Given the description of an element on the screen output the (x, y) to click on. 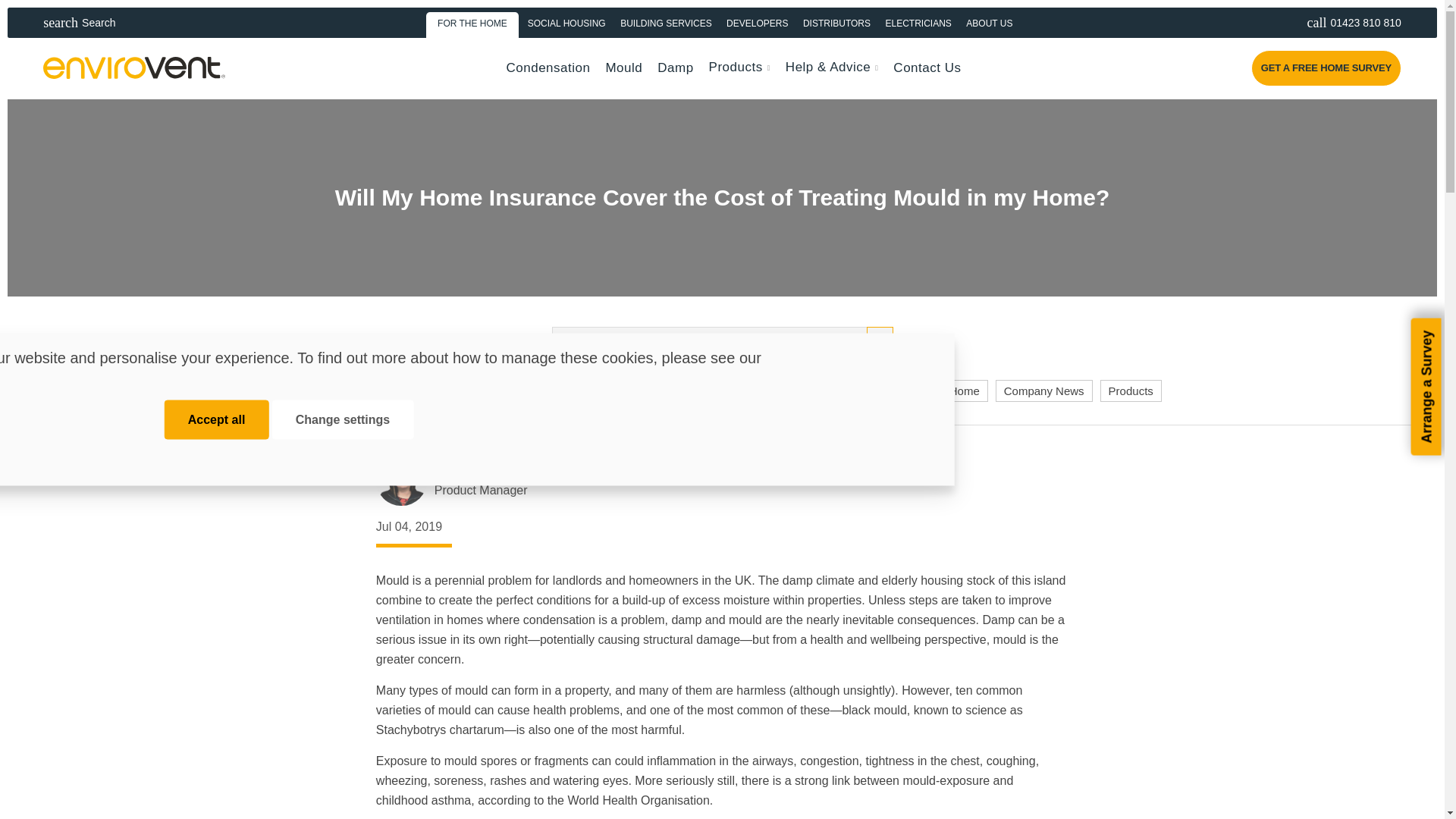
ABOUT US (988, 22)
BUILDING SERVICES (665, 22)
DISTRIBUTORS (836, 22)
Mould (622, 67)
DEVELOPERS (756, 22)
SOCIAL HOUSING (566, 22)
Change settings (342, 419)
ELECTRICIANS (918, 22)
Condensation (548, 67)
FOR THE HOME (100, 22)
Accept all (472, 22)
Products (216, 419)
